Given the description of an element on the screen output the (x, y) to click on. 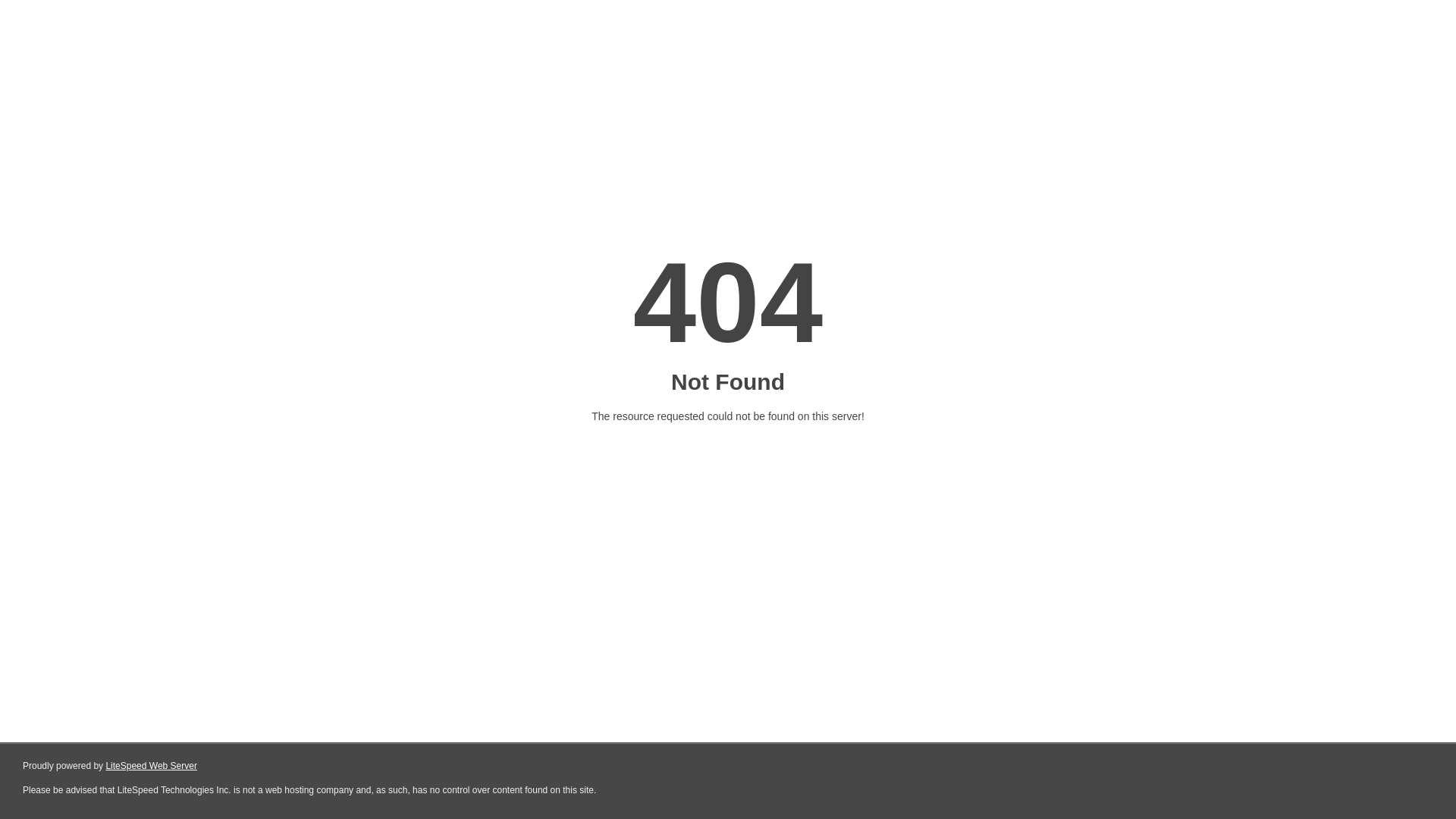
LiteSpeed Web Server Element type: text (151, 765)
